Given the description of an element on the screen output the (x, y) to click on. 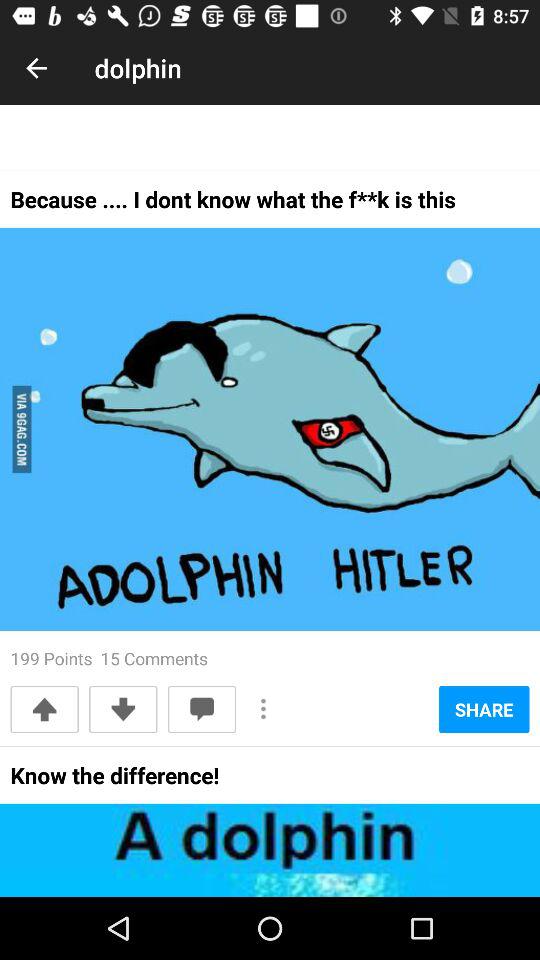
turn off icon next to the share item (263, 708)
